Given the description of an element on the screen output the (x, y) to click on. 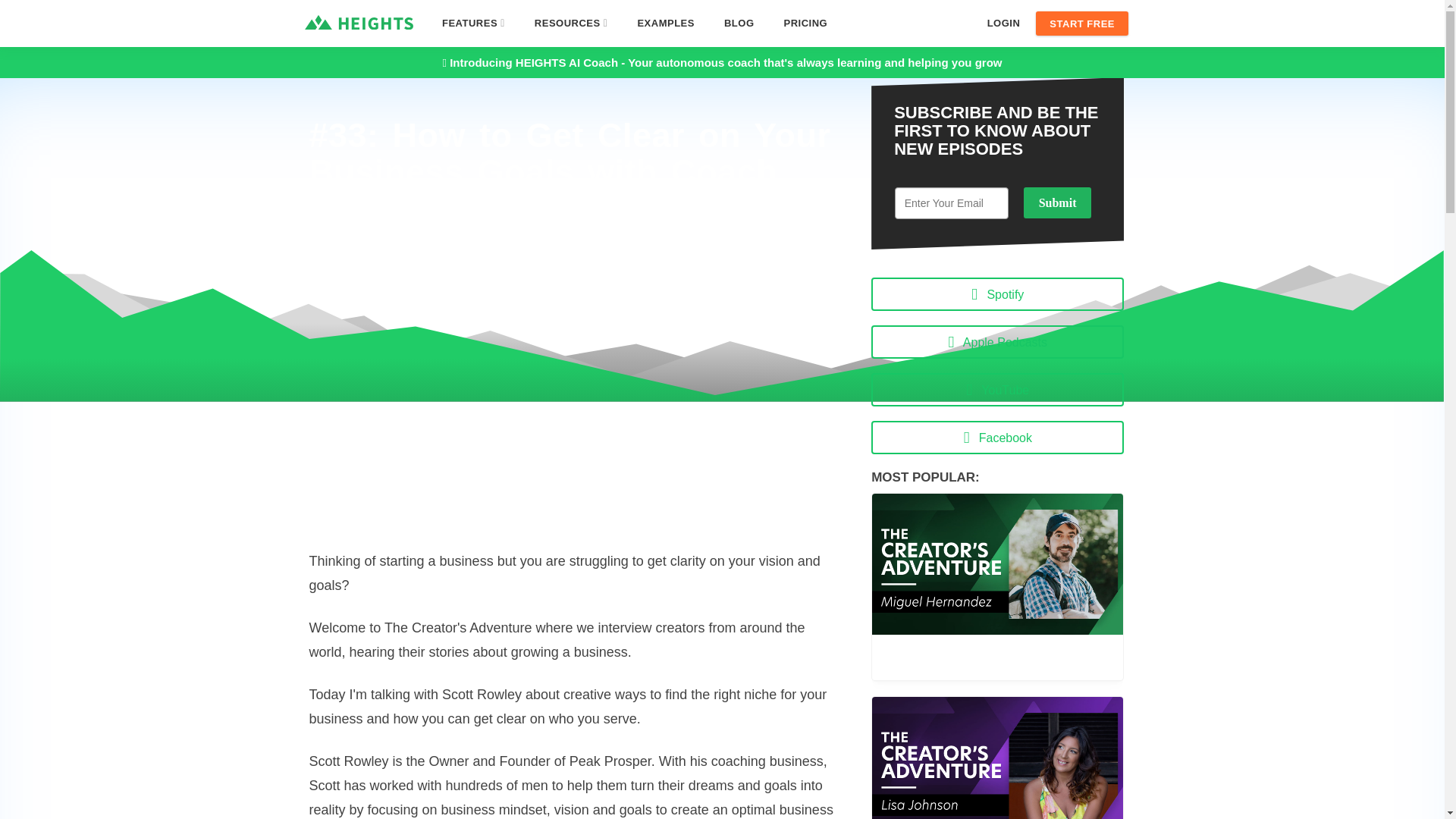
Facebook (997, 437)
START FREE (1081, 23)
Apple Podcasts (997, 341)
Spotify (997, 294)
BLOG (740, 23)
Submit (571, 23)
LOGIN (1057, 203)
YouTube (1003, 23)
PRICING (473, 23)
EXAMPLES (997, 389)
